Given the description of an element on the screen output the (x, y) to click on. 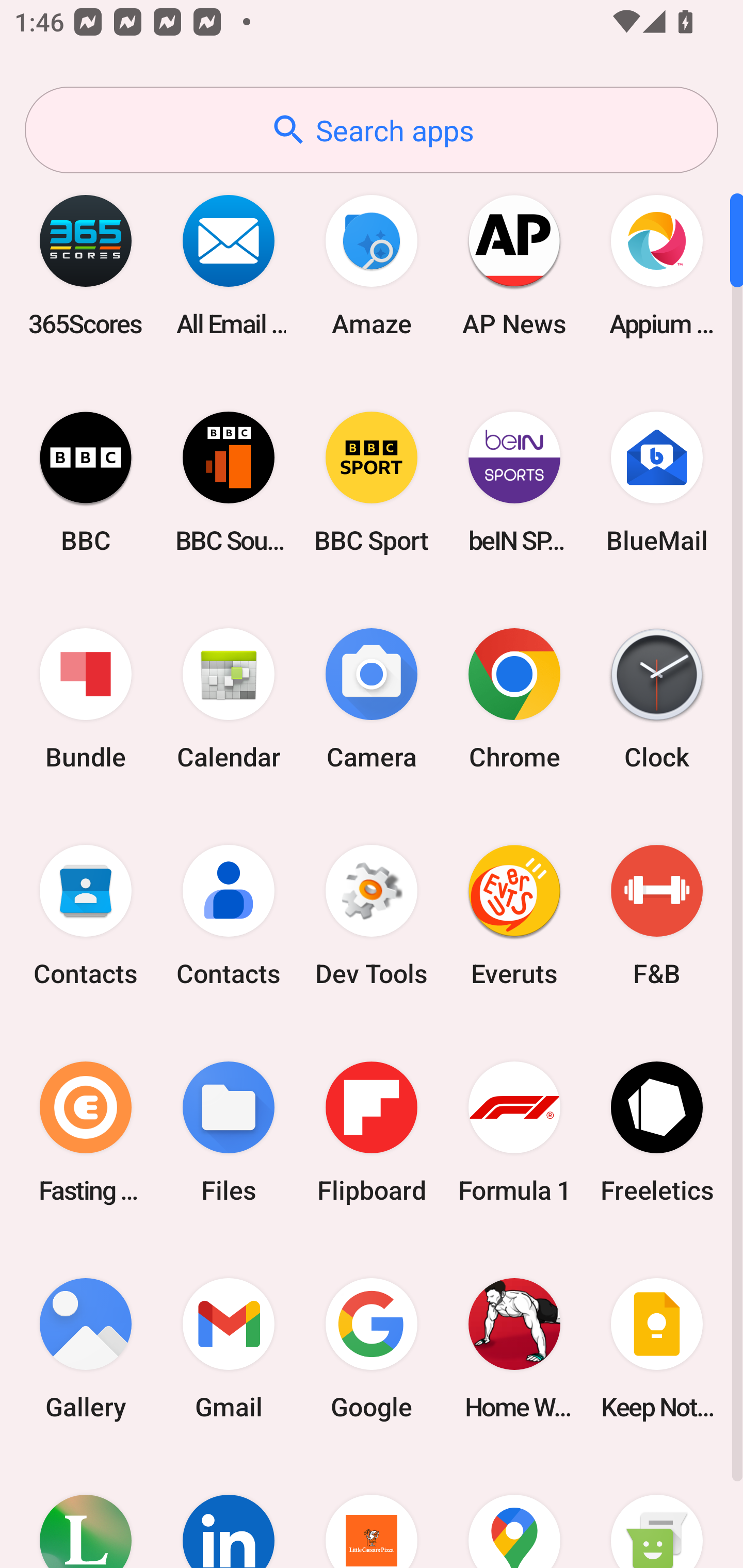
  Search apps (371, 130)
365Scores (85, 264)
All Email Connect (228, 264)
Amaze (371, 264)
AP News (514, 264)
Appium Settings (656, 264)
BBC (85, 482)
BBC Sounds (228, 482)
BBC Sport (371, 482)
beIN SPORTS (514, 482)
BlueMail (656, 482)
Bundle (85, 699)
Calendar (228, 699)
Camera (371, 699)
Chrome (514, 699)
Clock (656, 699)
Contacts (85, 915)
Contacts (228, 915)
Dev Tools (371, 915)
Everuts (514, 915)
F&B (656, 915)
Fasting Coach (85, 1131)
Files (228, 1131)
Flipboard (371, 1131)
Formula 1 (514, 1131)
Freeletics (656, 1131)
Gallery (85, 1348)
Gmail (228, 1348)
Google (371, 1348)
Home Workout (514, 1348)
Keep Notes (656, 1348)
Lifesum (85, 1512)
LinkedIn (228, 1512)
Little Caesars Pizza (371, 1512)
Maps (514, 1512)
Messaging (656, 1512)
